Given the description of an element on the screen output the (x, y) to click on. 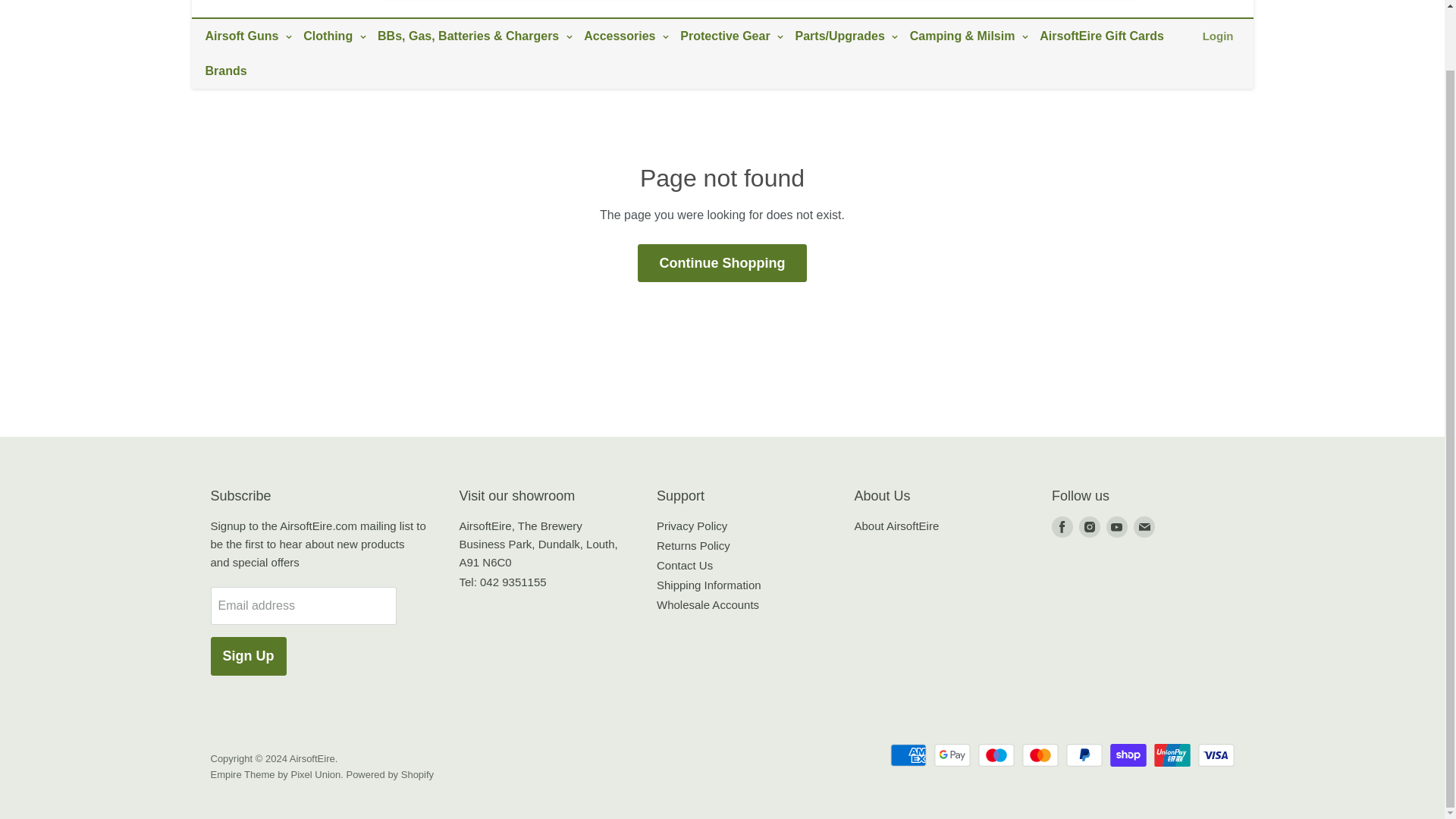
Instagram (1089, 526)
Union Pay (1172, 754)
Wholesale Accounts (707, 604)
Shop Pay (1128, 754)
Maestro (996, 754)
Youtube (1117, 526)
Airsoft Guns (246, 36)
Mastercard (1040, 754)
PayPal (1083, 754)
Privacy Policy (691, 525)
